Given the description of an element on the screen output the (x, y) to click on. 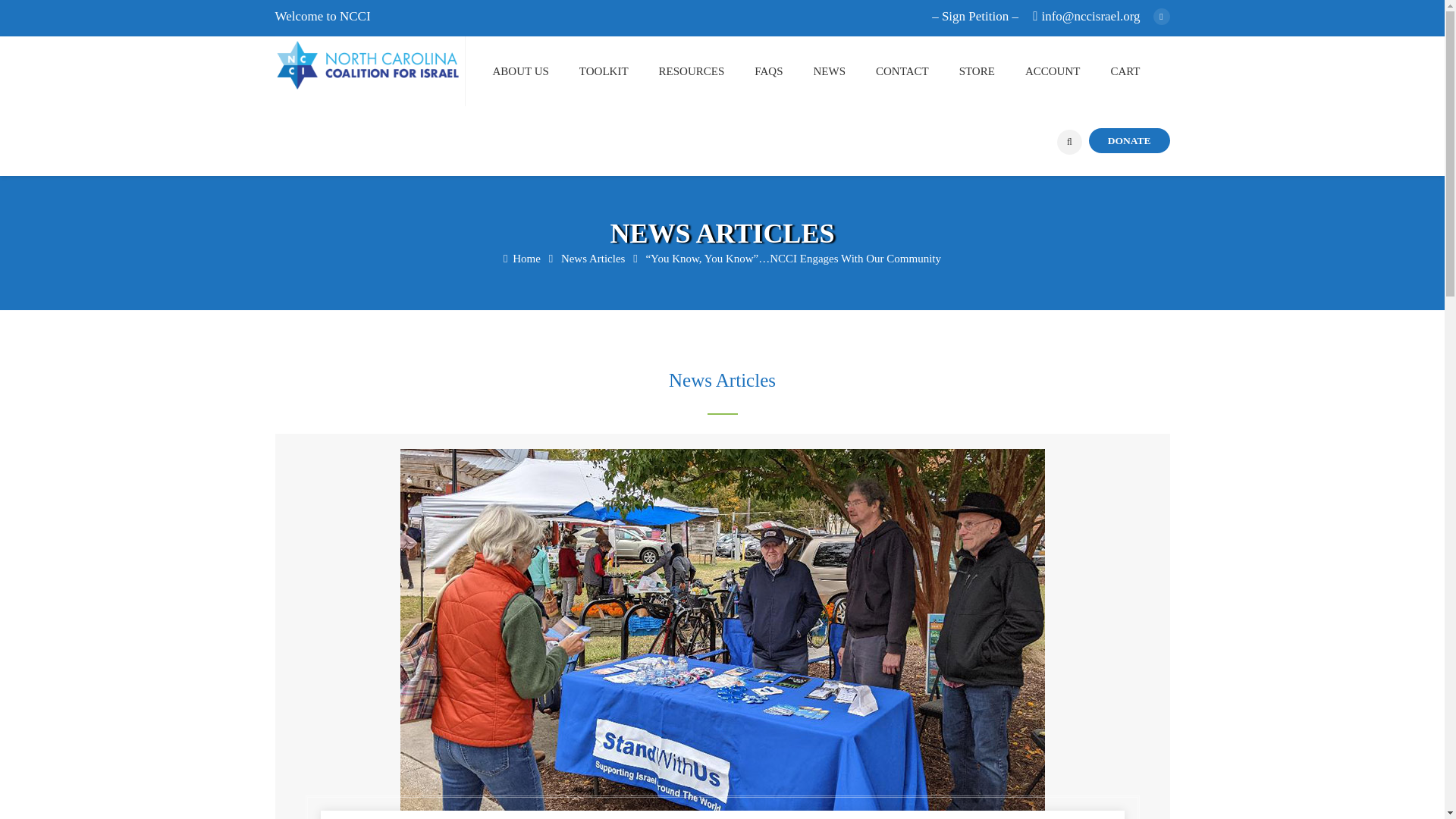
TOOLKIT (619, 71)
NEWS (844, 71)
News Articles  (593, 258)
North Carolina Coalition for Israel (521, 258)
ABOUT US (536, 71)
ACCOUNT (1067, 71)
Home (521, 258)
RESOURCES (707, 71)
CONTACT (917, 71)
News Articles (593, 258)
